Given the description of an element on the screen output the (x, y) to click on. 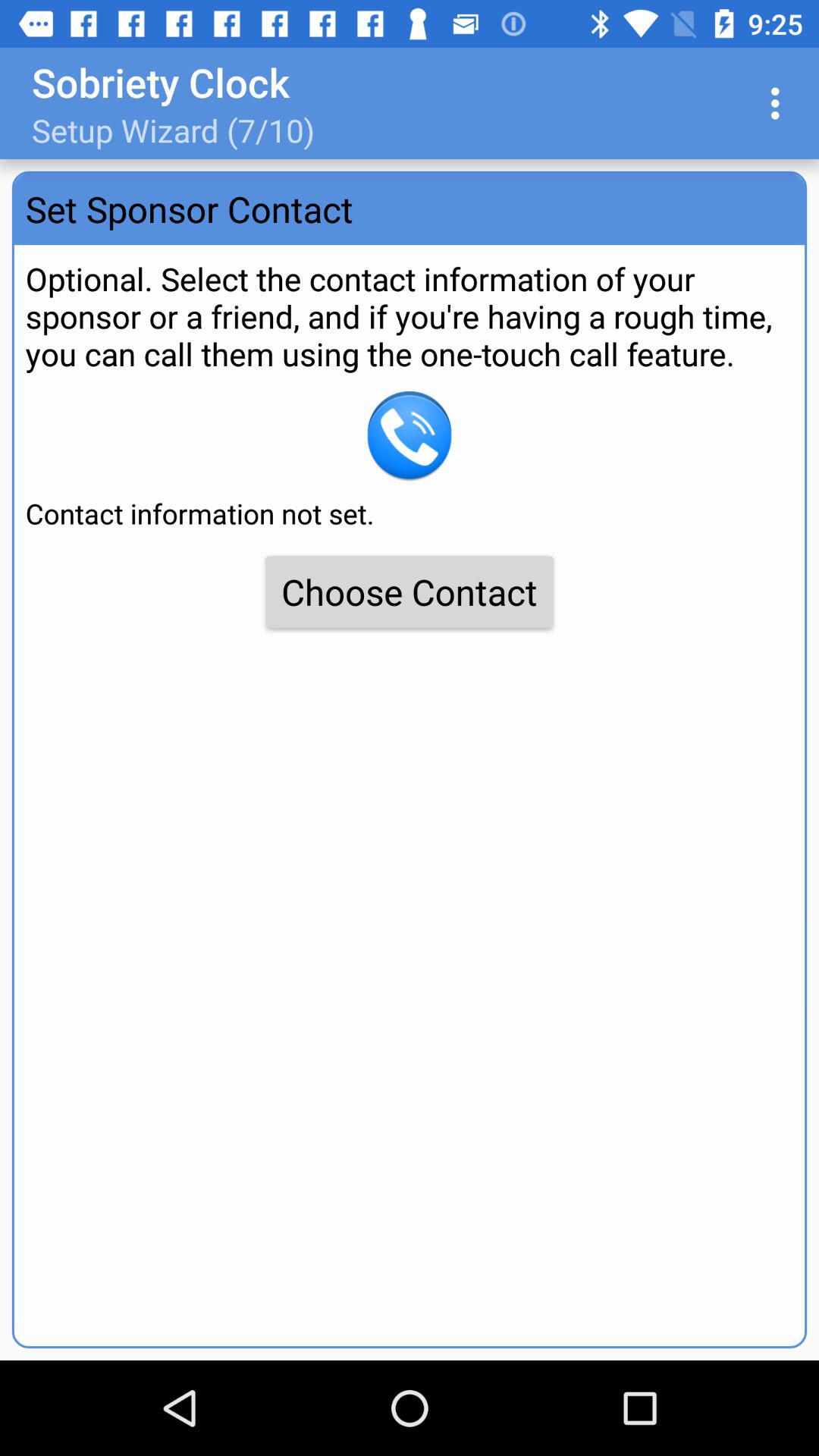
select item below the contact information not item (409, 591)
